Given the description of an element on the screen output the (x, y) to click on. 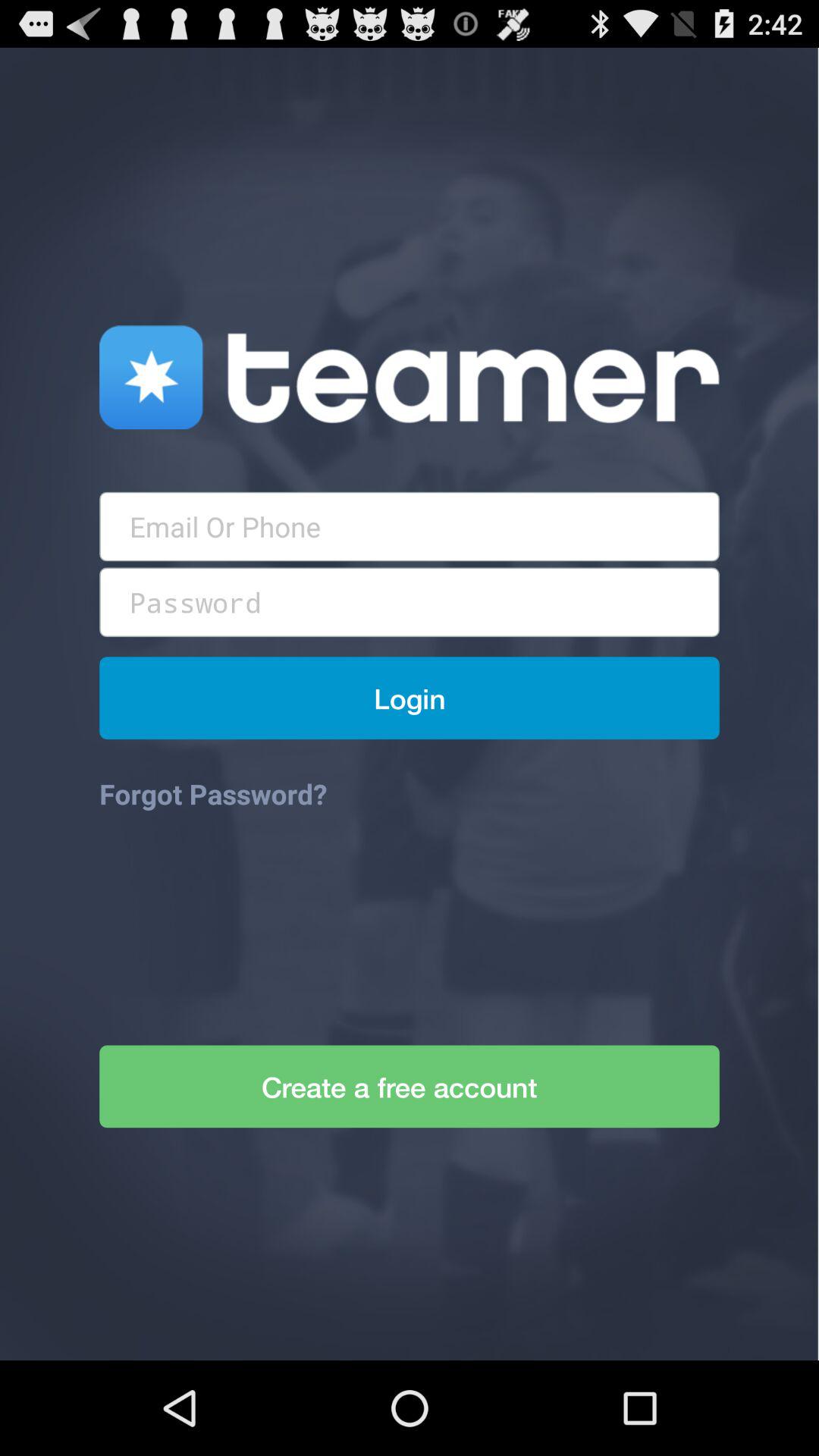
mail textbox (409, 526)
